Given the description of an element on the screen output the (x, y) to click on. 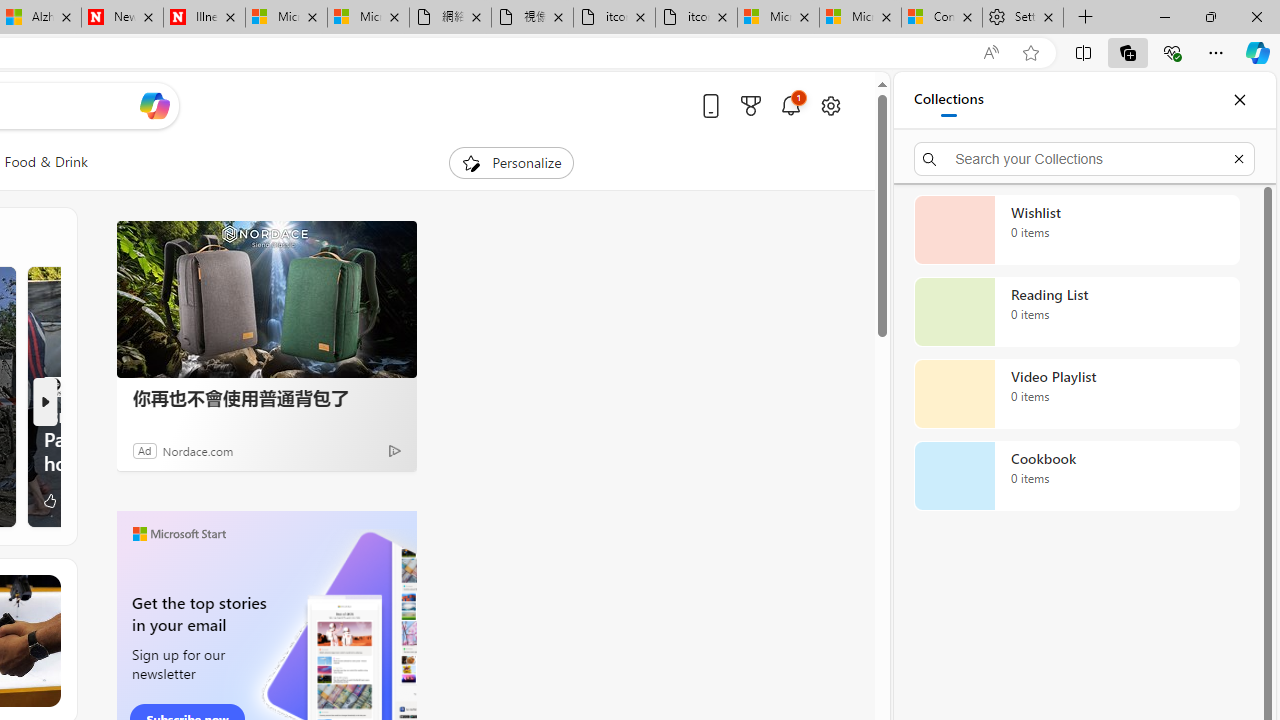
Ad Choice (394, 449)
Search your Collections (1084, 158)
Cookbook collection, 0 items (1076, 475)
Consumer Health Data Privacy Policy (941, 17)
Nordace.com (198, 450)
To get missing image descriptions, open the context menu. (471, 162)
Video Playlist collection, 0 items (1076, 394)
